Given the description of an element on the screen output the (x, y) to click on. 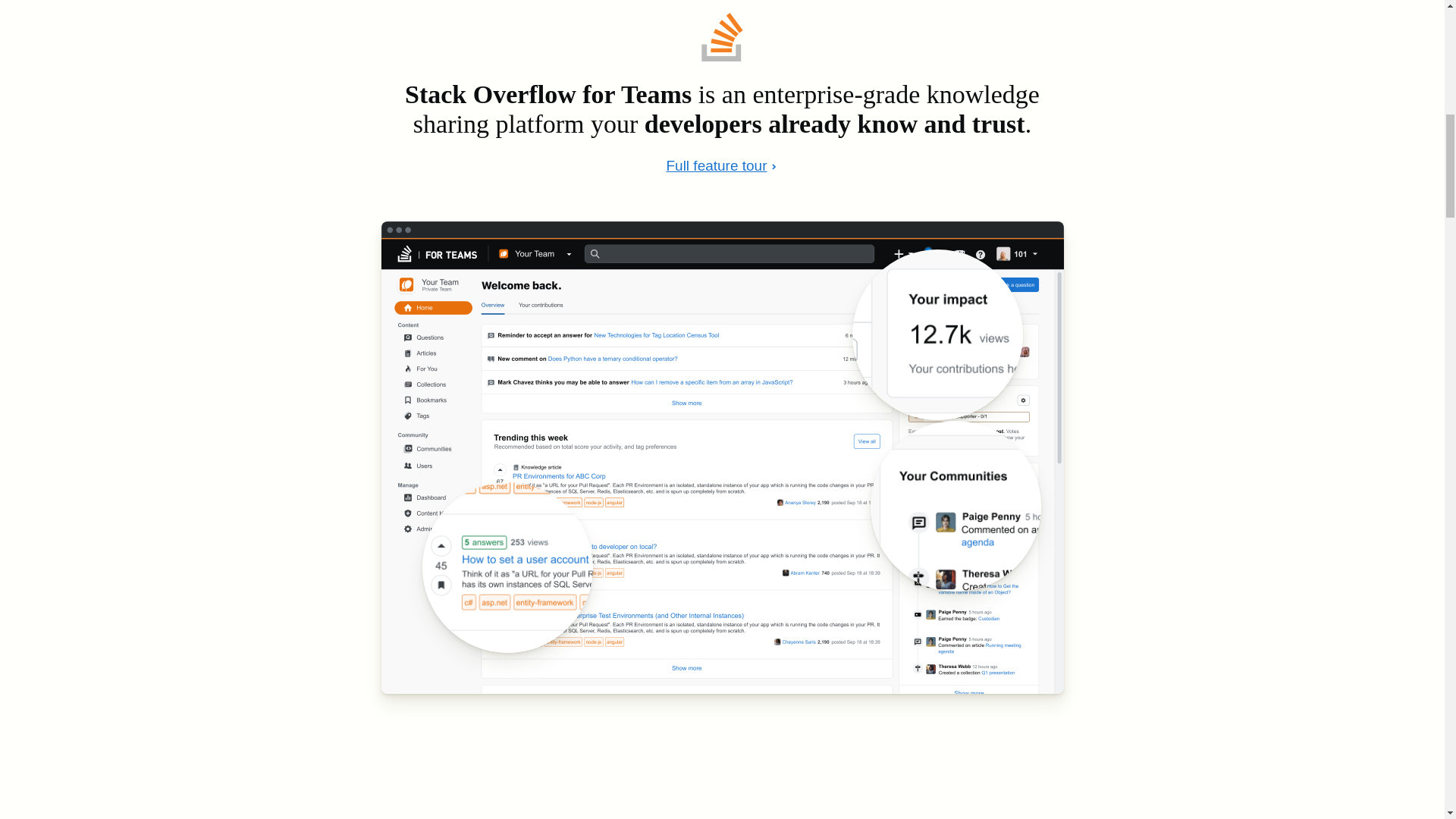
Full feature tour (721, 166)
